Given the description of an element on the screen output the (x, y) to click on. 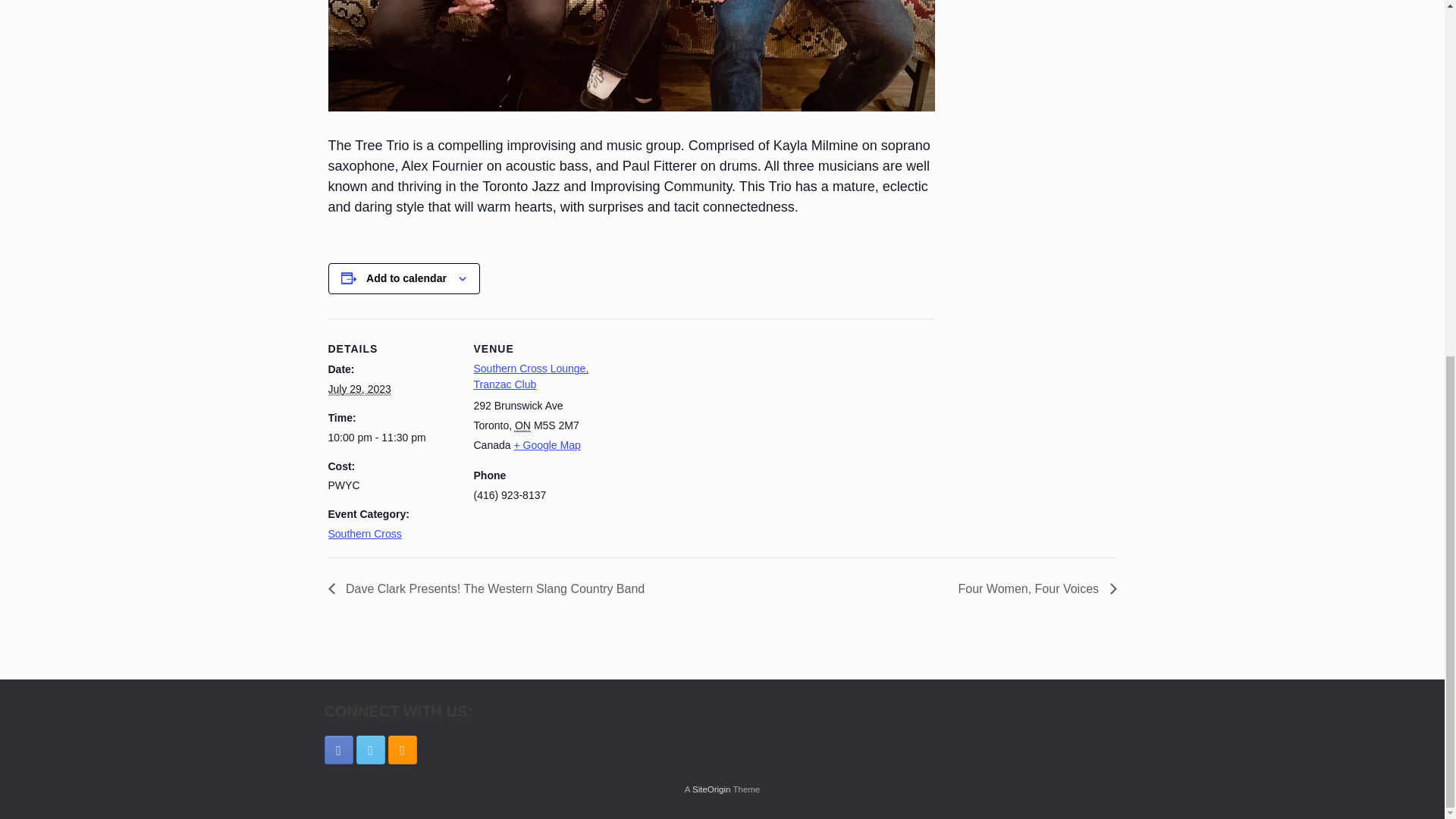
ON (523, 425)
Southern Cross (364, 533)
2023-07-29 (358, 389)
Tranzac Club RSS (402, 749)
Tranzac Club Facebook (338, 749)
Click to view a Google Map (546, 444)
Four Women, Four Voices (1032, 588)
Add to calendar (406, 277)
Dave Clark Presents! The Western Slang Country Band (489, 588)
Southern Cross Lounge, Tranzac Club (530, 376)
Tranzac Club Twitter (370, 749)
2023-07-29 (390, 437)
